Given the description of an element on the screen output the (x, y) to click on. 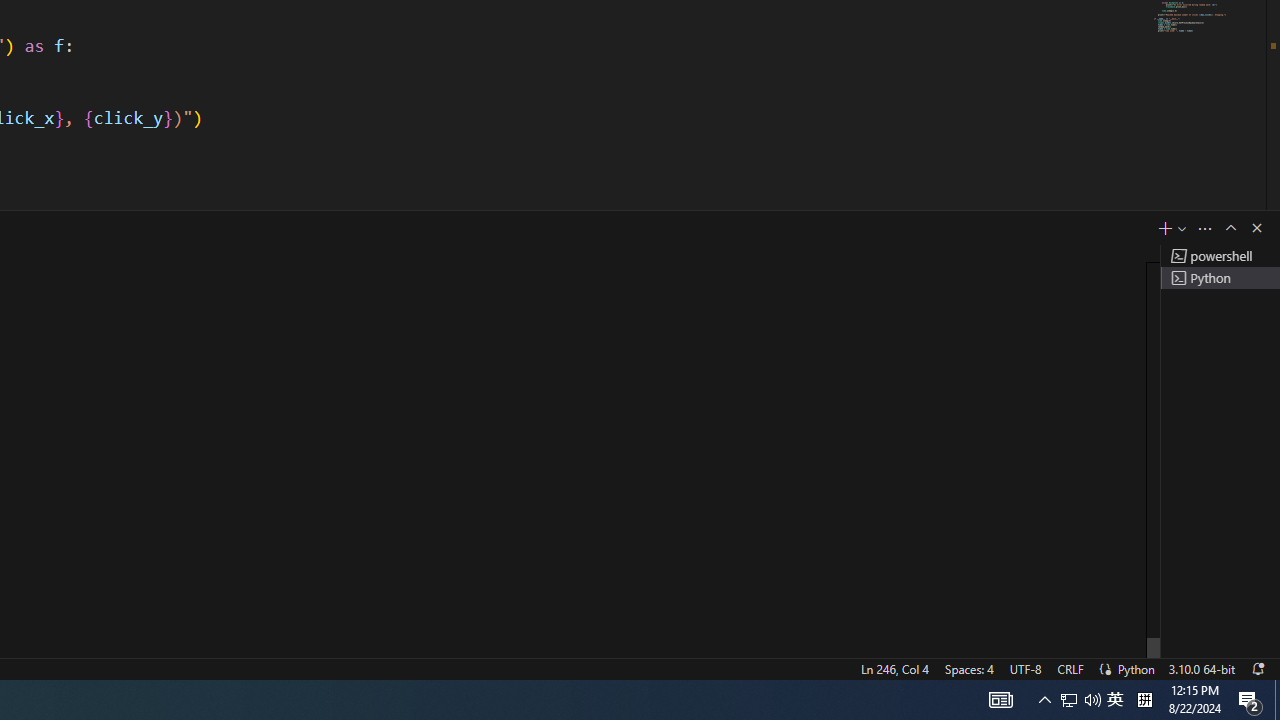
Notifications (1257, 668)
Launch Profile... (1181, 227)
Views and More Actions... (1205, 227)
Terminal 2 Python (1220, 277)
UTF-8 (1025, 668)
Ln 246, Col 4 (894, 668)
Hide Panel (1256, 227)
CRLF (1070, 668)
Terminal 1 powershell (1220, 255)
Maximize Panel Size (1230, 227)
Spaces: 4 (968, 668)
